Given the description of an element on the screen output the (x, y) to click on. 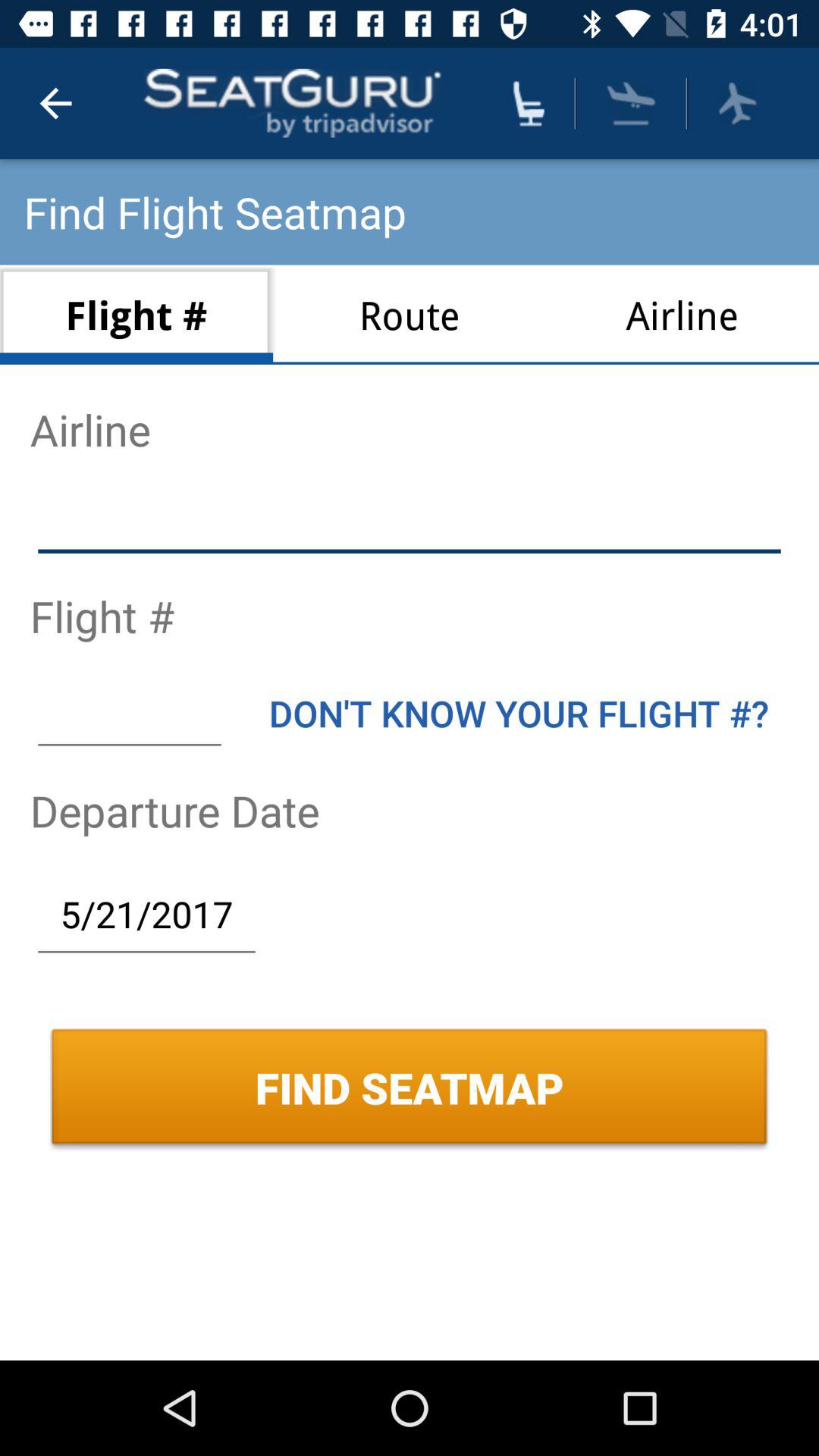
click the icon below the departure date (146, 913)
